Given the description of an element on the screen output the (x, y) to click on. 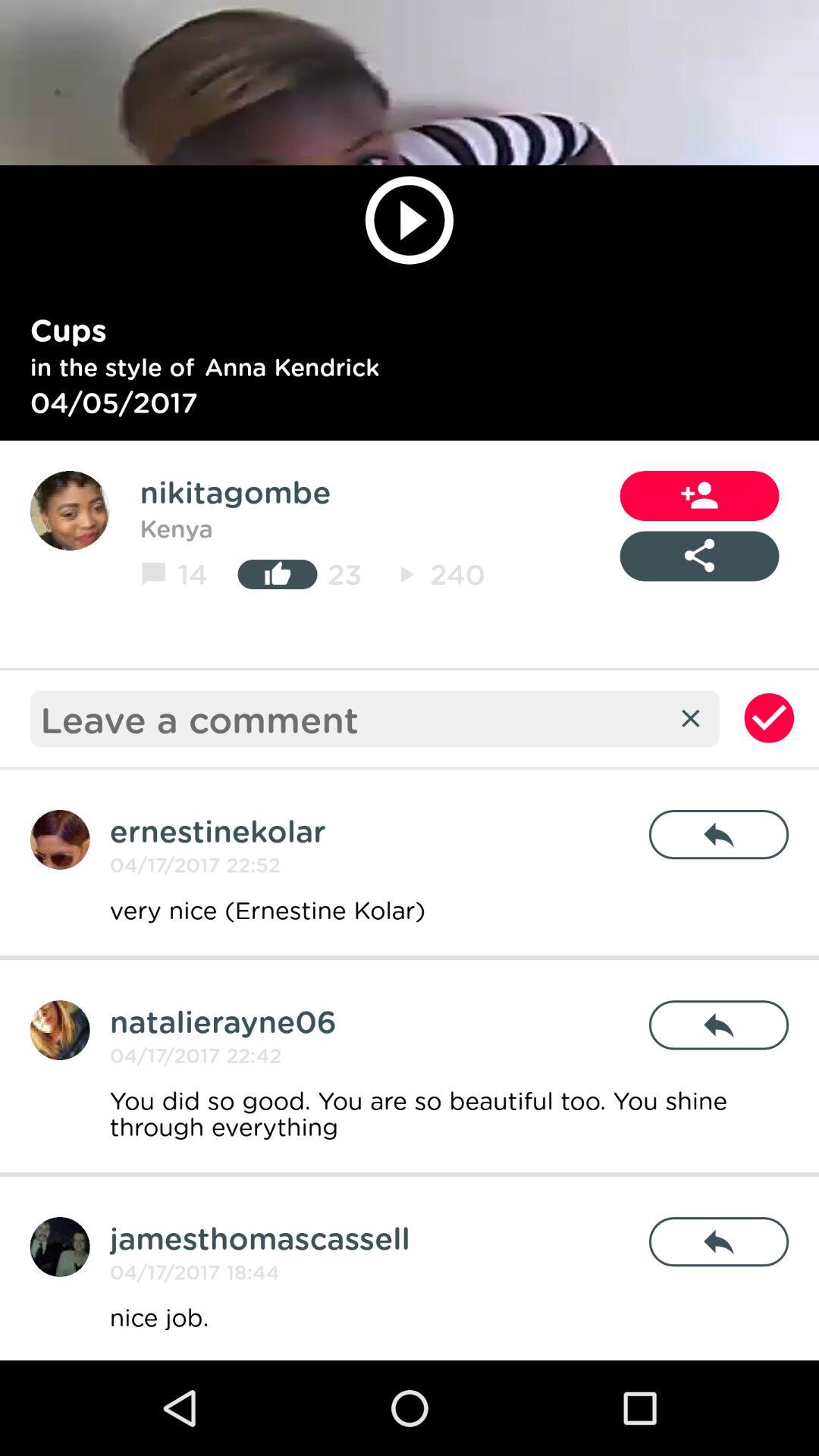
launch the icon to the right of the natalierayne06 (718, 1024)
